Given the description of an element on the screen output the (x, y) to click on. 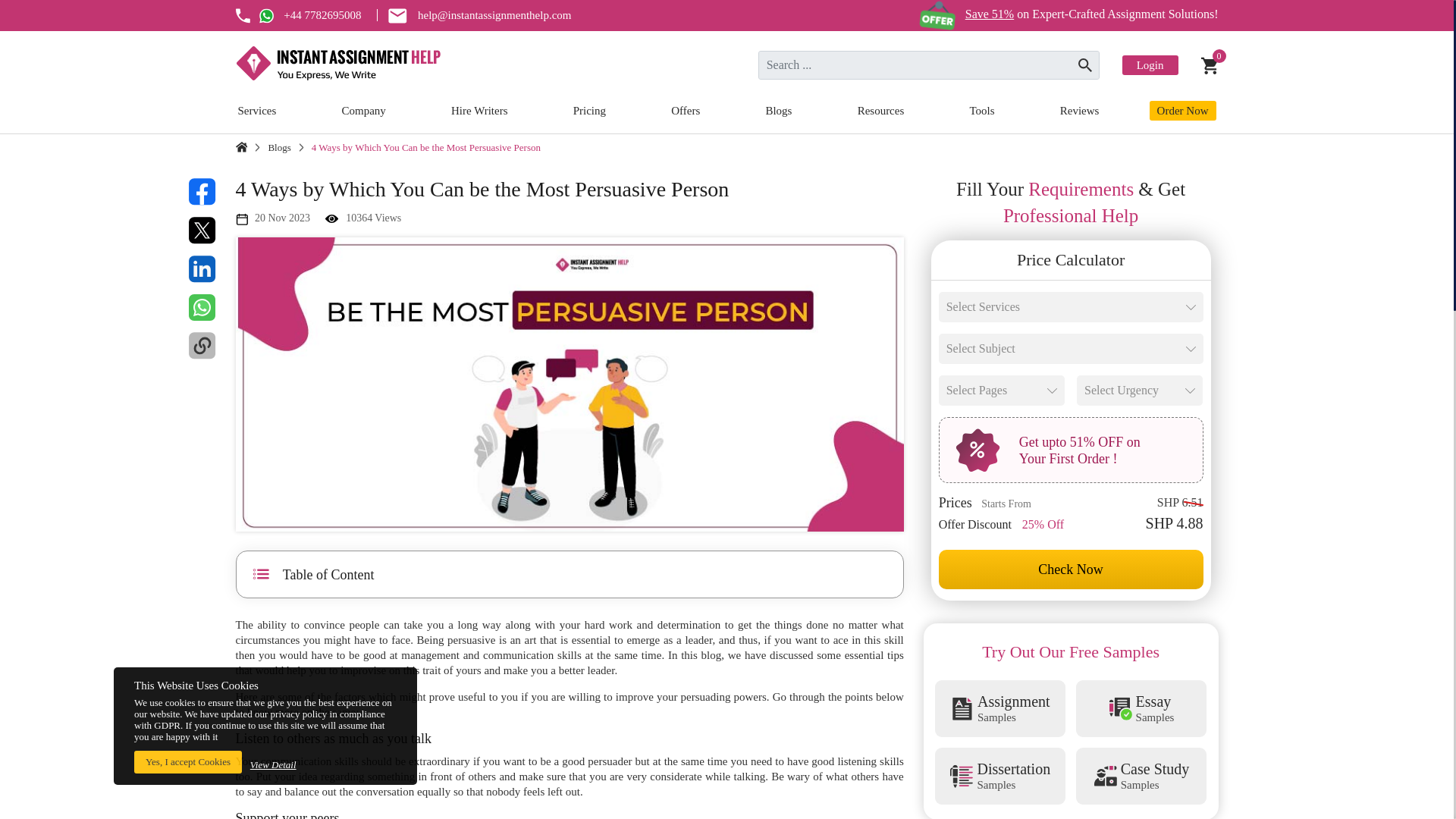
Login (1149, 65)
Yes, I accept Cookies (187, 762)
0 (1209, 64)
Home (240, 146)
